Given the description of an element on the screen output the (x, y) to click on. 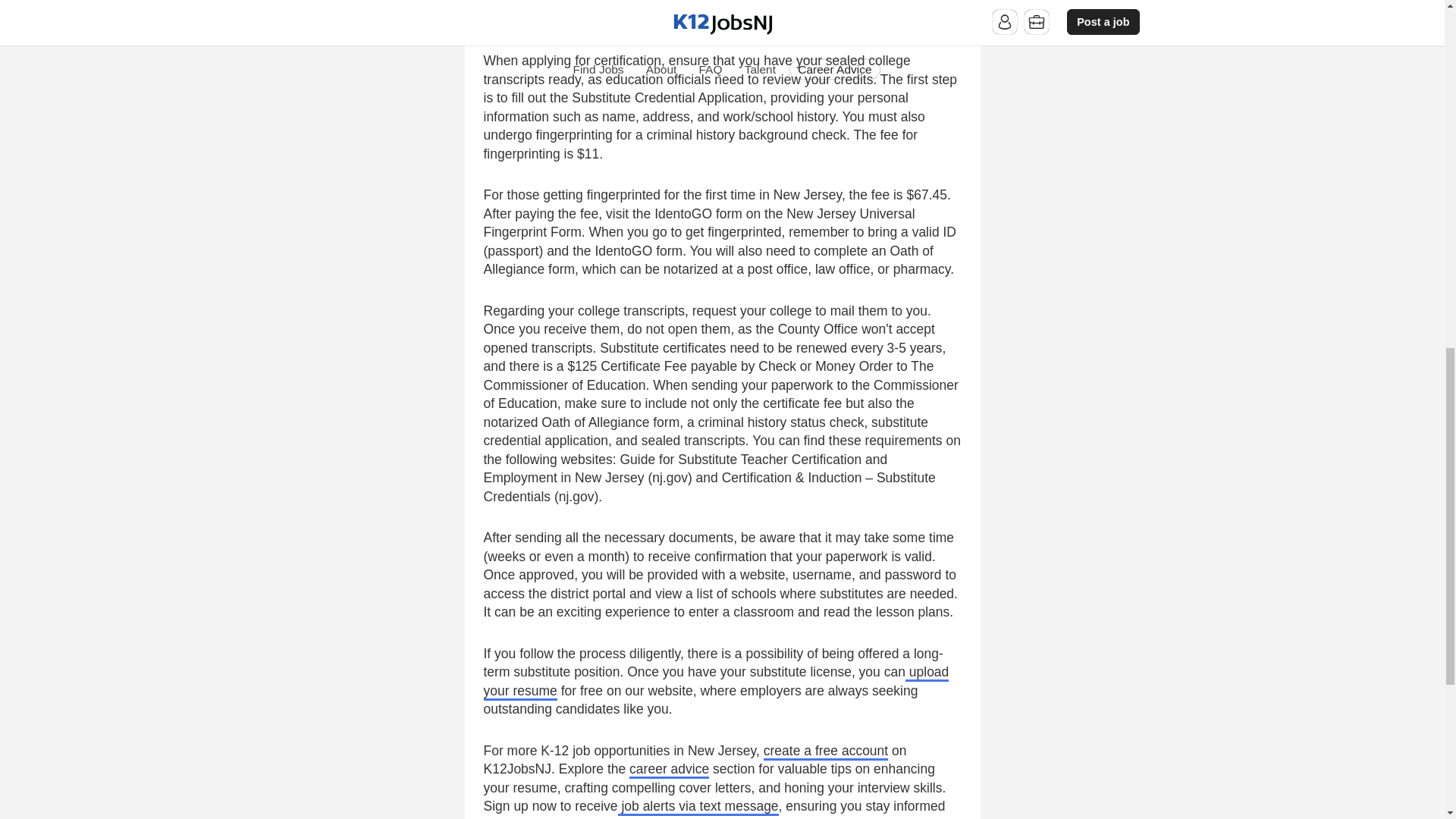
upload your resume (716, 682)
job alerts via text message (697, 806)
create a free account (825, 751)
career advice (668, 769)
